Given the description of an element on the screen output the (x, y) to click on. 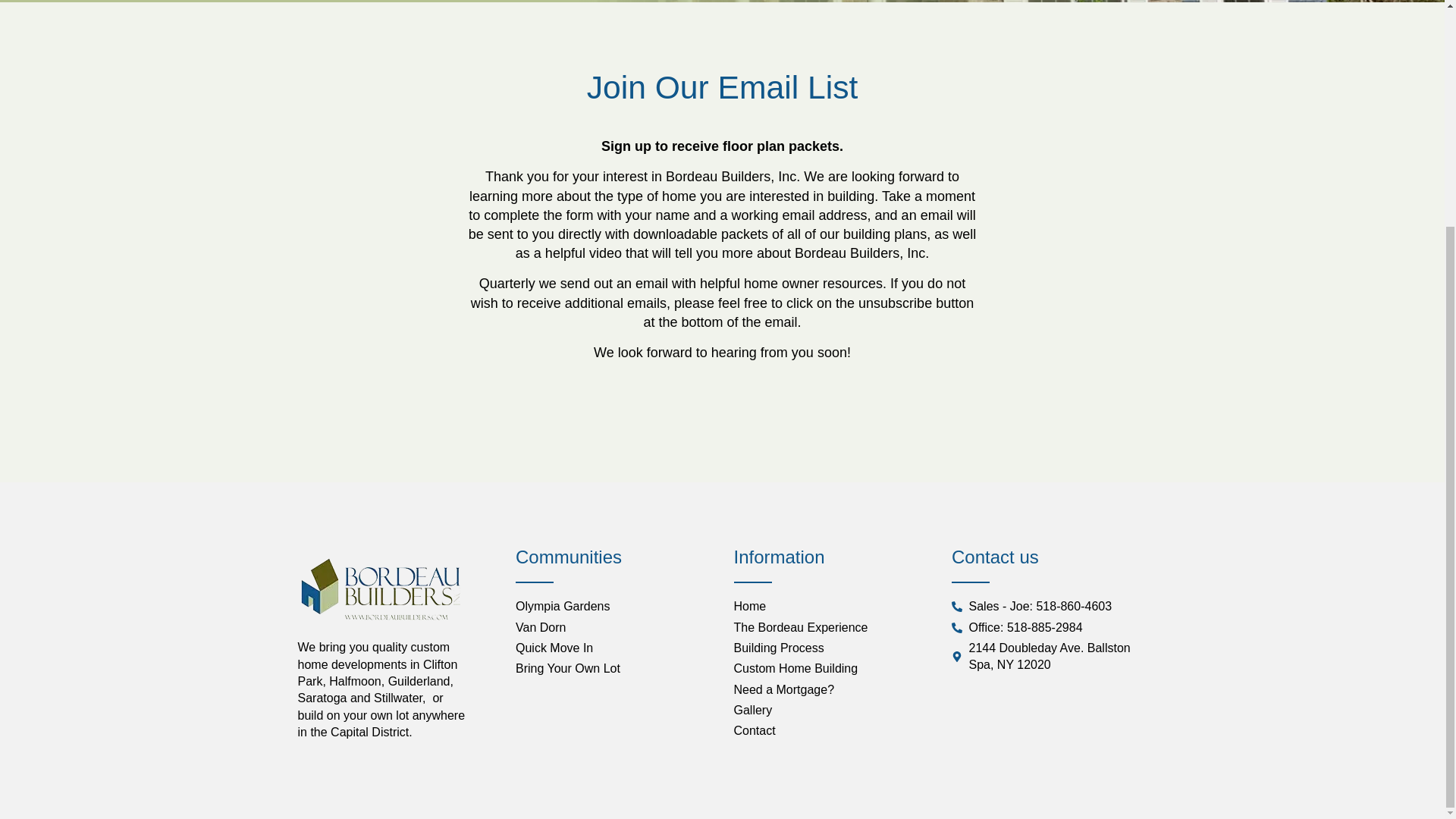
The Bordeau Experience (831, 627)
Gallery (831, 710)
Need a Mortgage? (831, 689)
Quick Move In (613, 647)
Bring Your Own Lot (613, 668)
Home (831, 606)
Building Process (831, 647)
Custom Home Building (831, 668)
Van Dorn (613, 627)
Olympia Gardens (613, 606)
